Given the description of an element on the screen output the (x, y) to click on. 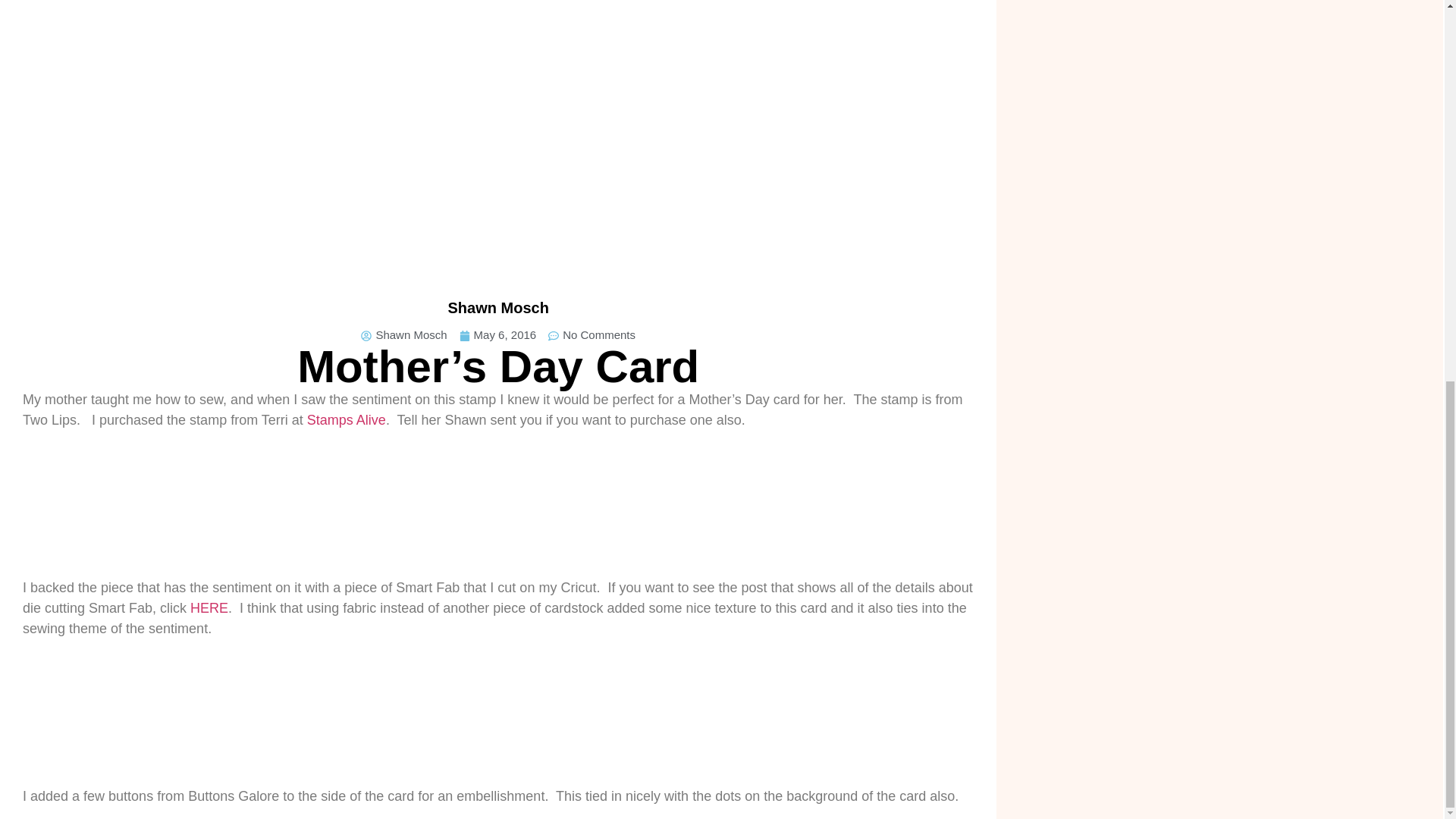
Shawn Mosch (403, 334)
Stamps Alive (346, 419)
No Comments (591, 334)
May 6, 2016 (498, 334)
HERE (209, 607)
